Given the description of an element on the screen output the (x, y) to click on. 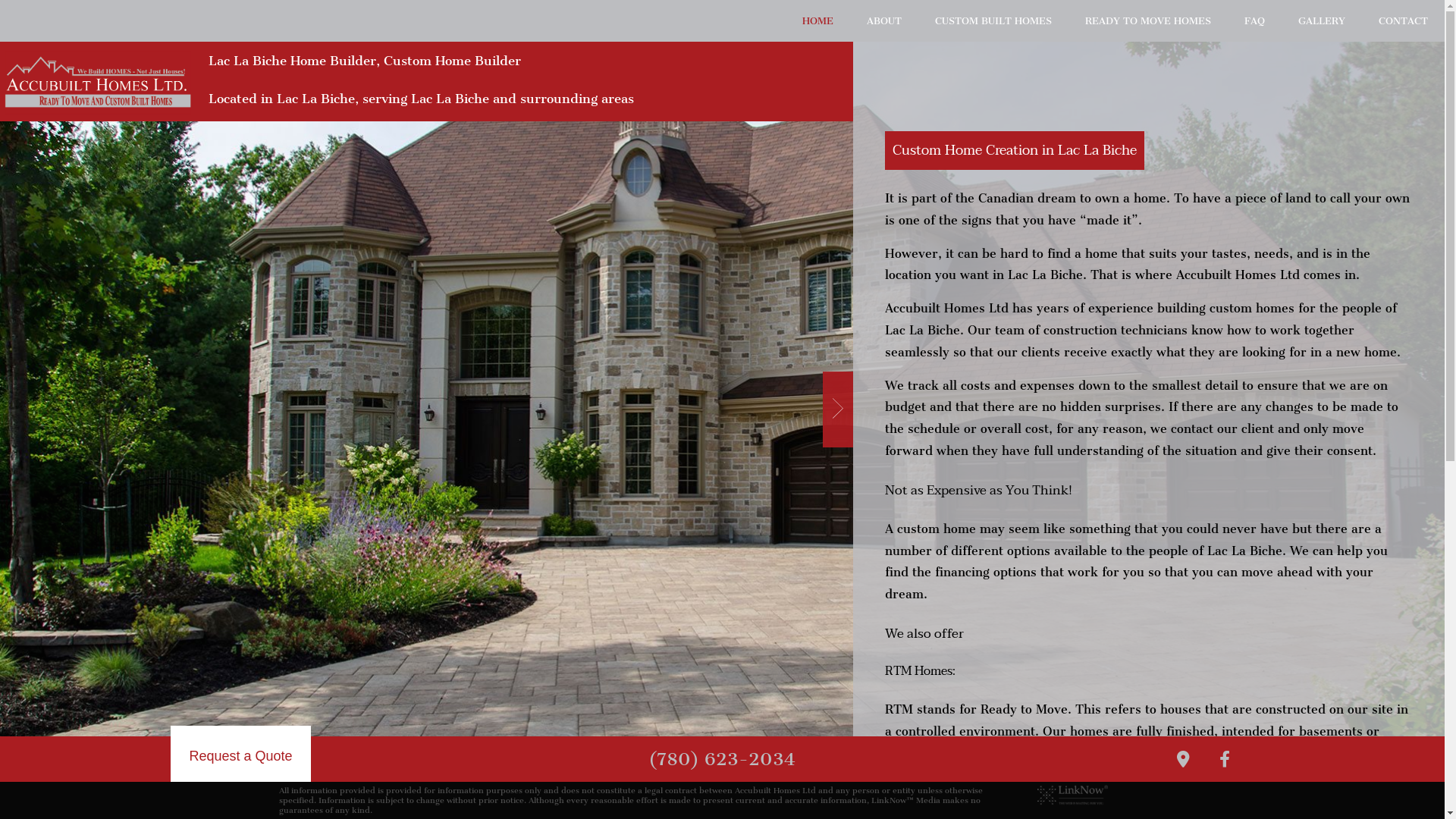
HOME Element type: text (817, 20)
CUSTOM BUILT HOMES Element type: text (993, 20)
FAQ Element type: text (1254, 20)
READY TO MOVE HOMES Element type: text (1147, 20)
Request a Quote Element type: text (240, 758)
(780) 623-2034 Element type: text (721, 758)
GALLERY Element type: text (1321, 20)
ABOUT Element type: text (884, 20)
CONTACT Element type: text (1403, 20)
Website Hosted By LinkNow&trade Media Element type: hover (1072, 792)
